Given the description of an element on the screen output the (x, y) to click on. 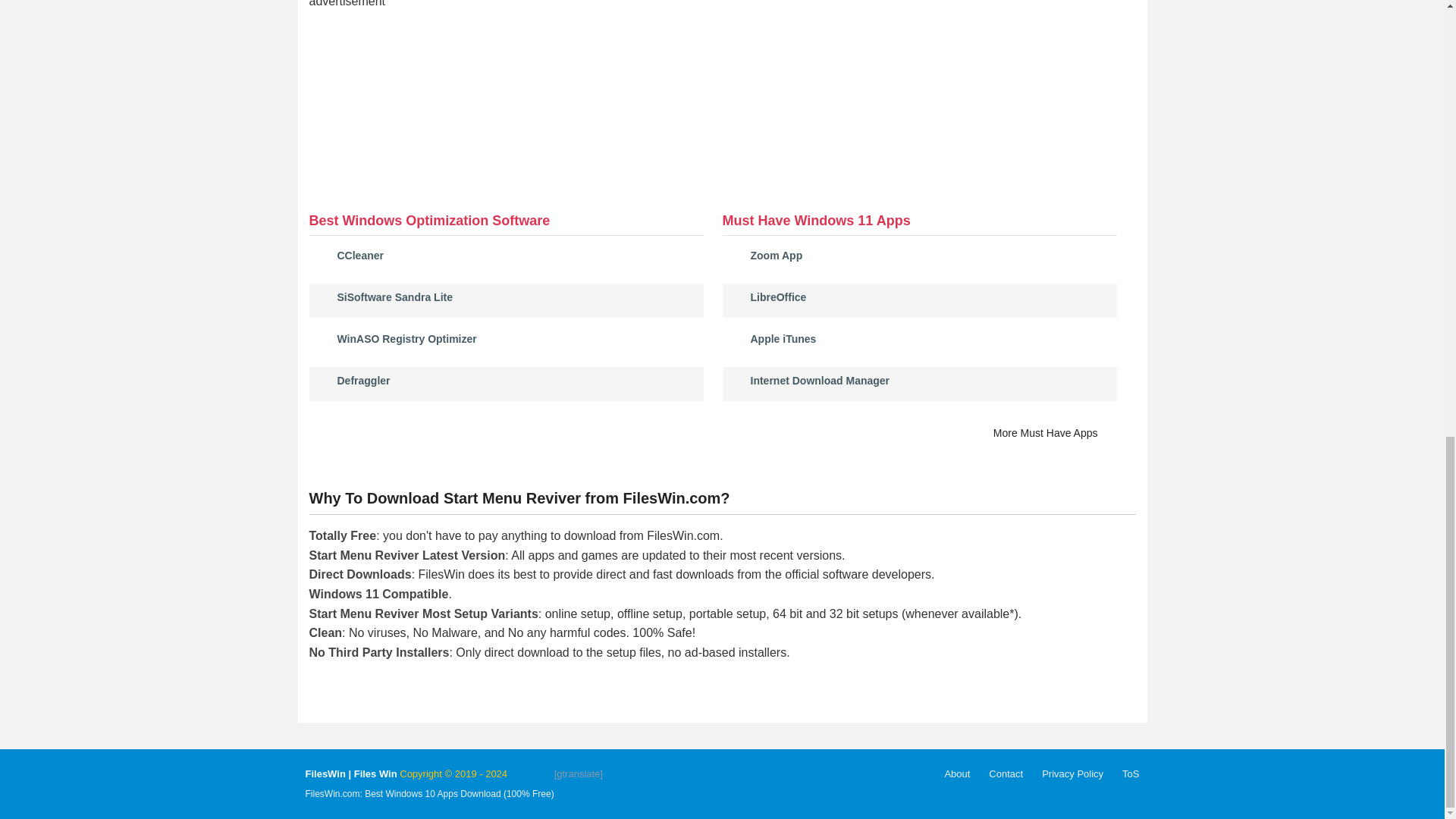
Defraggler (363, 380)
Internet Download Manager (820, 380)
LibreOffice (778, 297)
ToS (1130, 773)
SiSoftware Sandra Lite (393, 297)
Contact (1005, 773)
CCleaner (359, 255)
Internet Download Manager (820, 380)
WinASO Registry Optimizer (406, 338)
About (956, 773)
SiSoftware Sandra Lite (393, 297)
Apple iTunes (783, 338)
FilesWin.com (350, 773)
Apple iTunes (783, 338)
Privacy Policy (1072, 773)
